Given the description of an element on the screen output the (x, y) to click on. 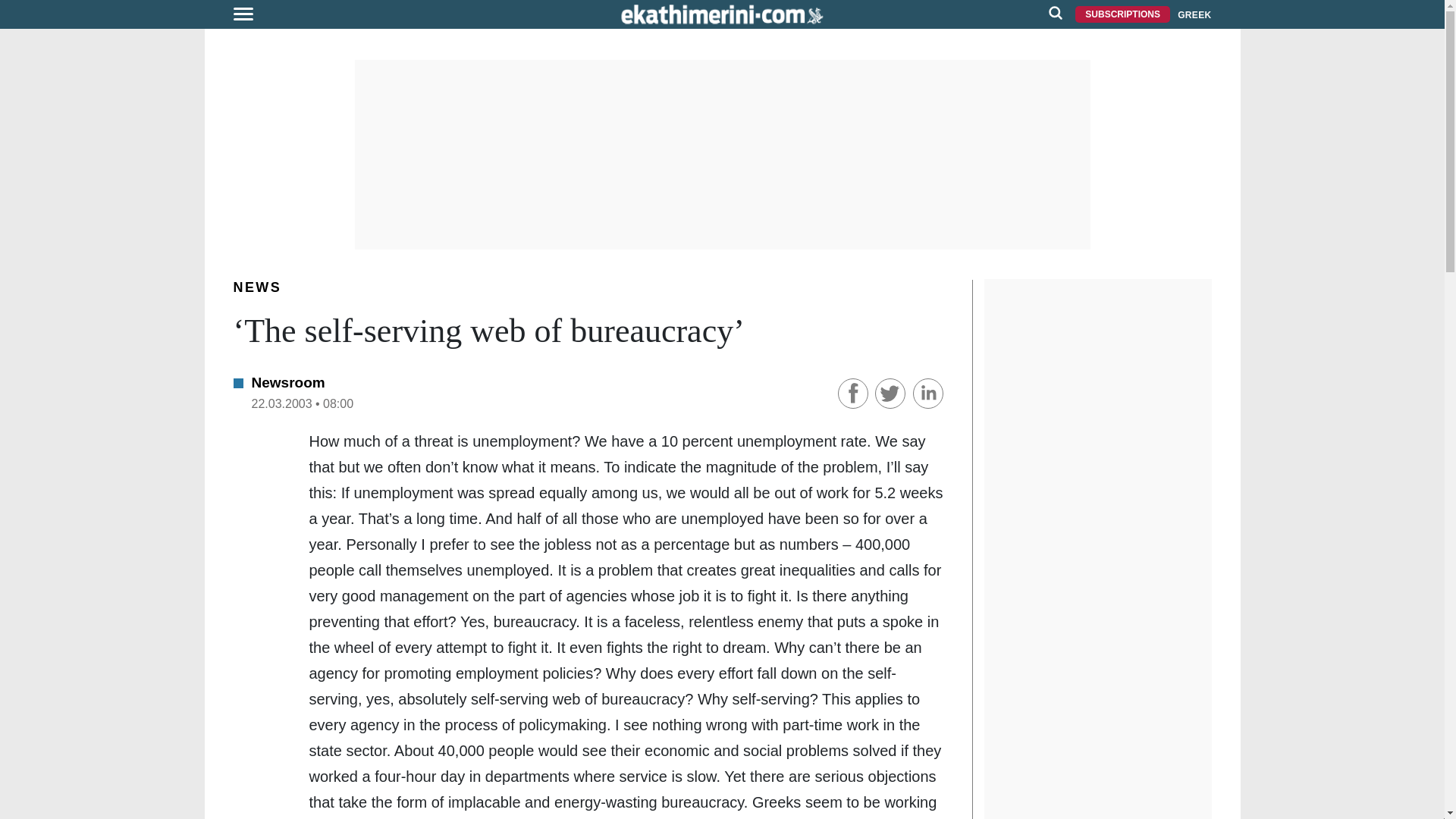
View all posts by Newsroom (287, 382)
